Given the description of an element on the screen output the (x, y) to click on. 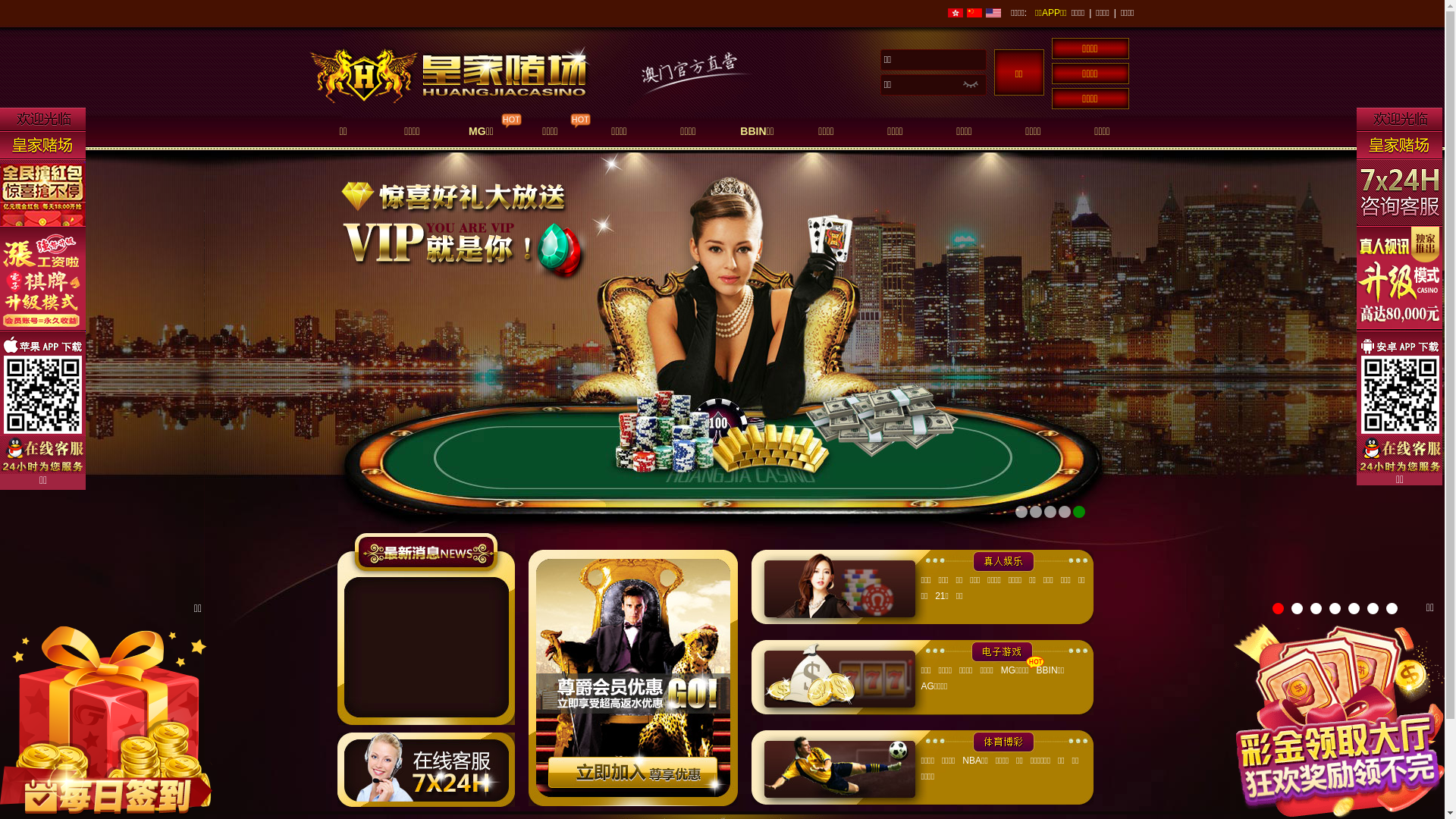
6 Element type: text (1372, 608)
2 Element type: text (1296, 608)
3 Element type: text (1315, 608)
7 Element type: text (1391, 608)
1 Element type: text (1277, 608)
4 Element type: text (1334, 608)
5 Element type: text (1353, 608)
